Given the description of an element on the screen output the (x, y) to click on. 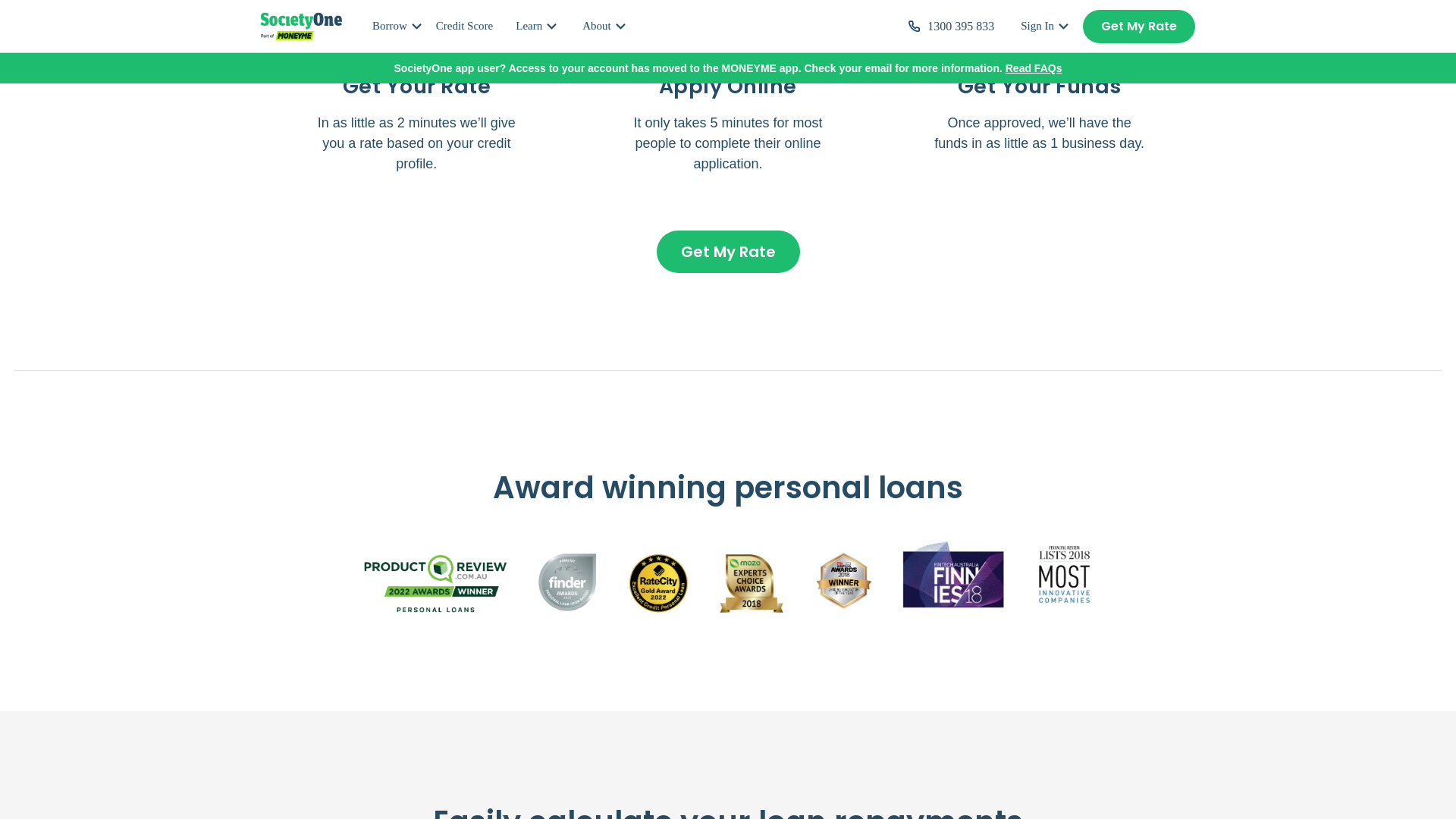
Get My Rate (727, 251)
